Given the description of an element on the screen output the (x, y) to click on. 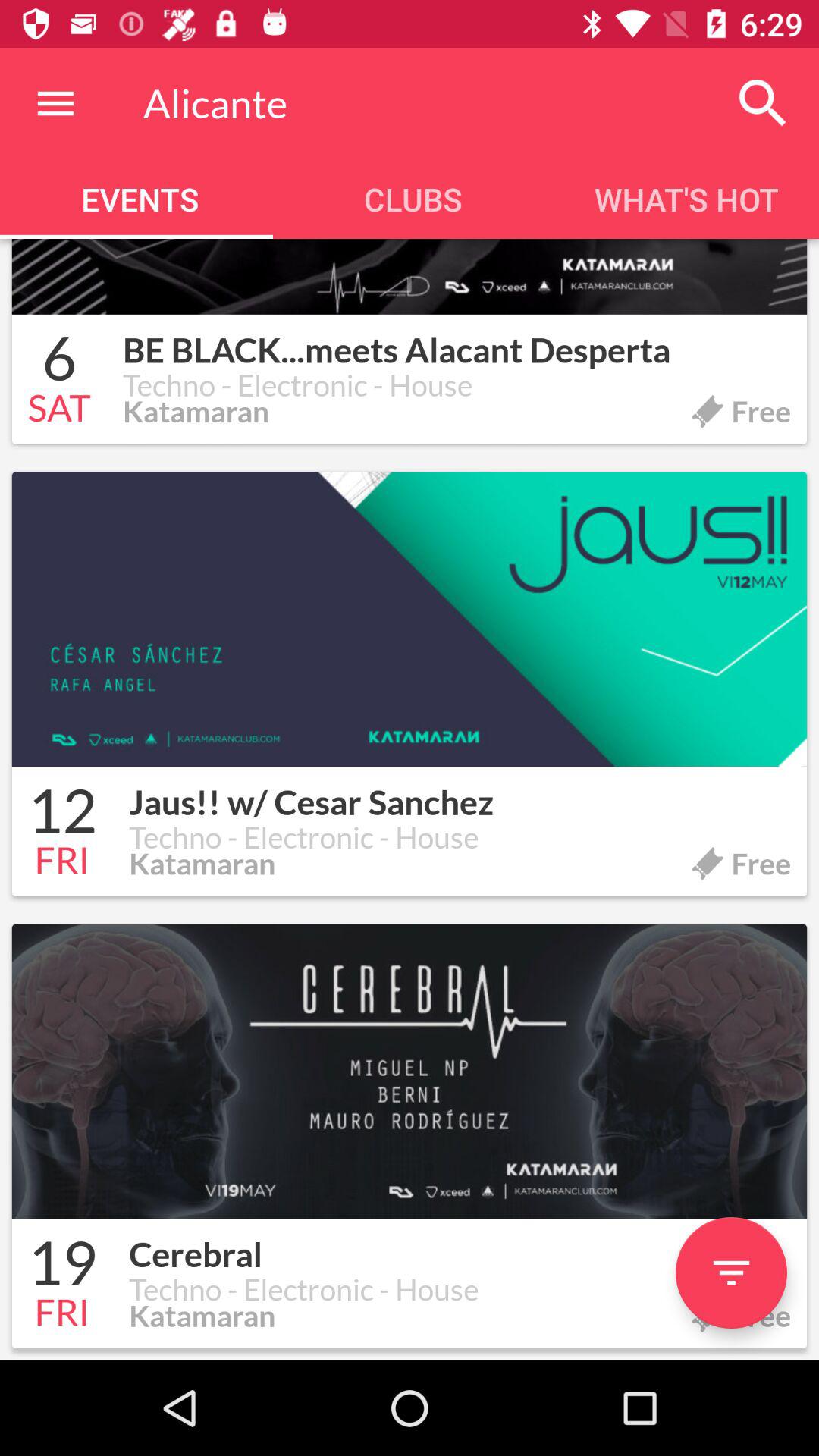
turn off icon next to the jaus w cesar (62, 813)
